Given the description of an element on the screen output the (x, y) to click on. 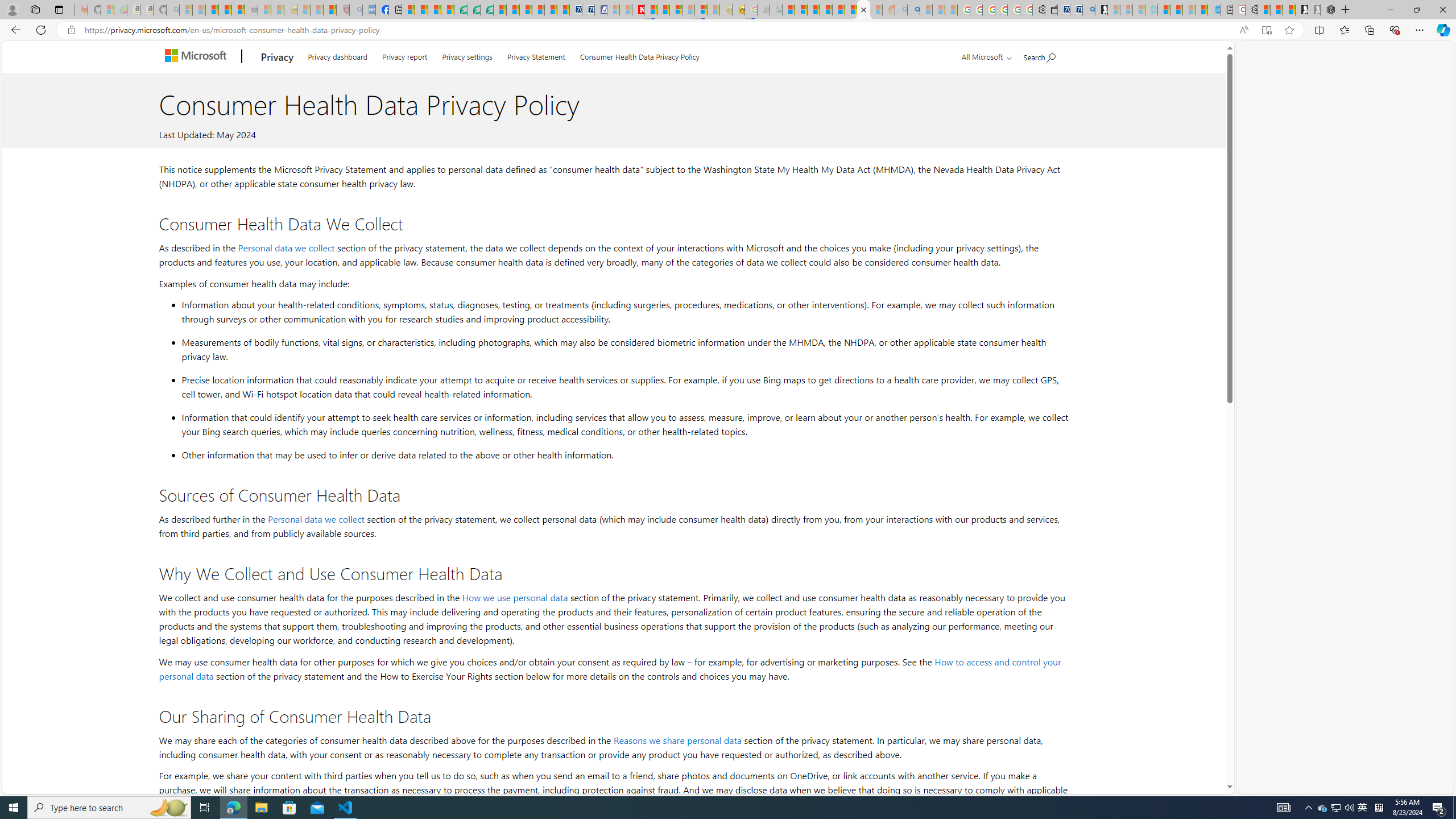
The Weather Channel - MSN (212, 9)
Bing Real Estate - Home sales and rental listings (1088, 9)
